Given the description of an element on the screen output the (x, y) to click on. 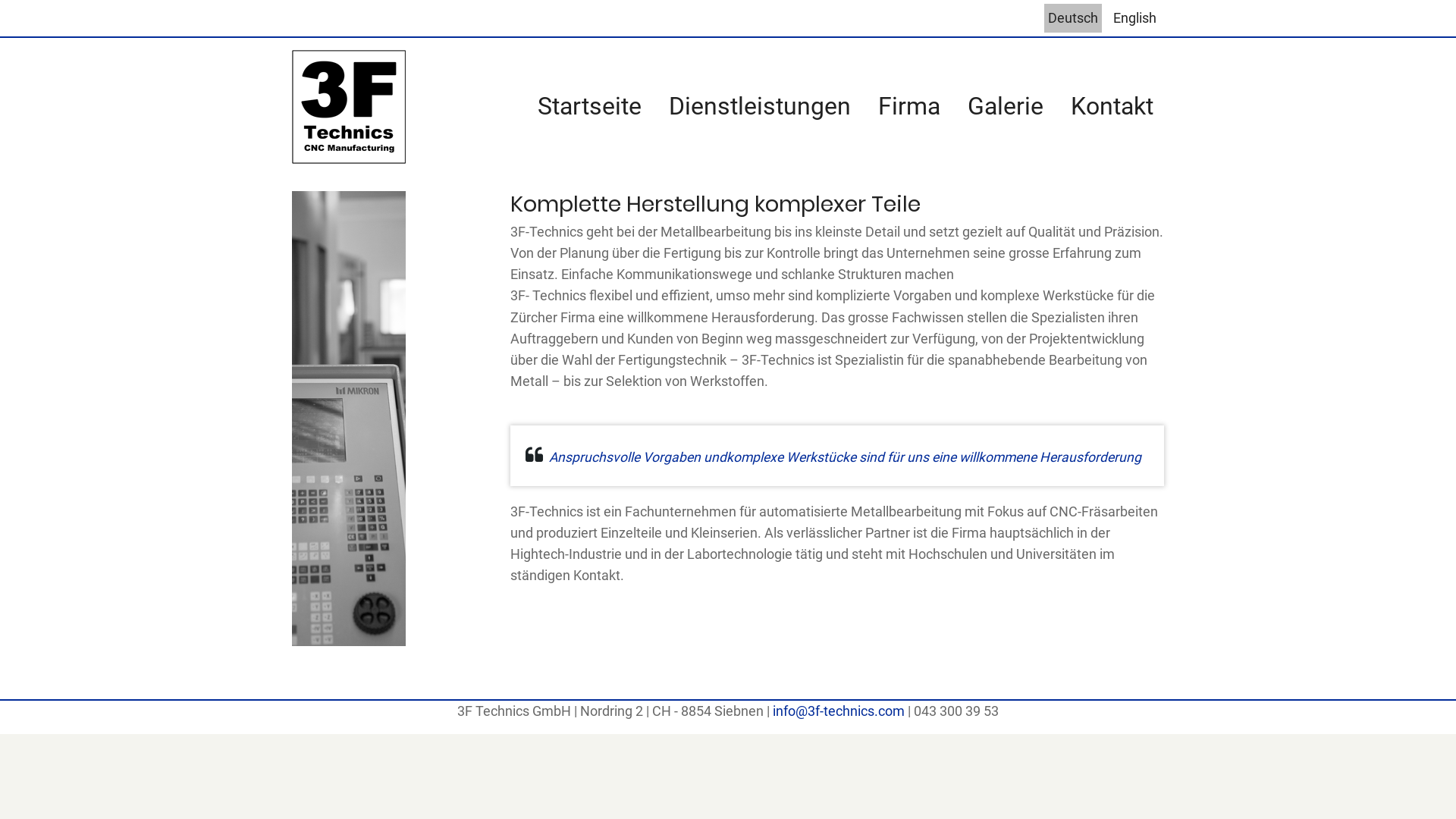
Galerie Element type: text (1005, 106)
Startseite Element type: text (589, 106)
Dienstleistungen Element type: text (759, 106)
Startseite Element type: hover (348, 105)
Deutsch Element type: text (1073, 17)
English Element type: text (1134, 17)
info@3f-technics.com Element type: text (838, 710)
Direkt zum Inhalt Element type: text (0, 0)
Kontakt Element type: text (1112, 106)
Firma Element type: text (908, 106)
